Given the description of an element on the screen output the (x, y) to click on. 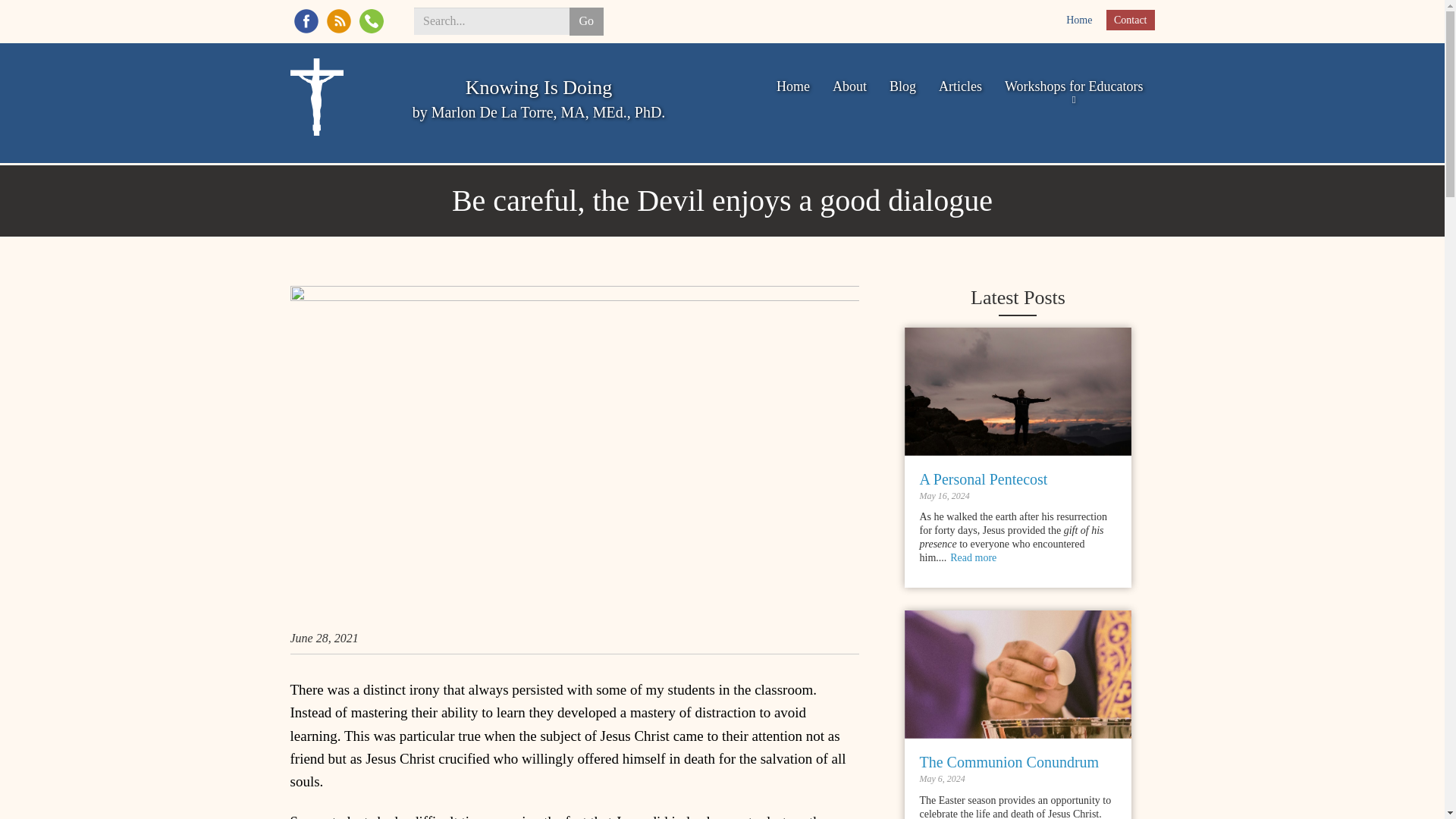
The Communion Conundrum (1008, 761)
Knowing Is Doing (538, 87)
Contact (371, 21)
Read more (972, 557)
Skip to main content (938, 102)
Facebook (1130, 19)
RSS (306, 21)
Blog (338, 21)
